Given the description of an element on the screen output the (x, y) to click on. 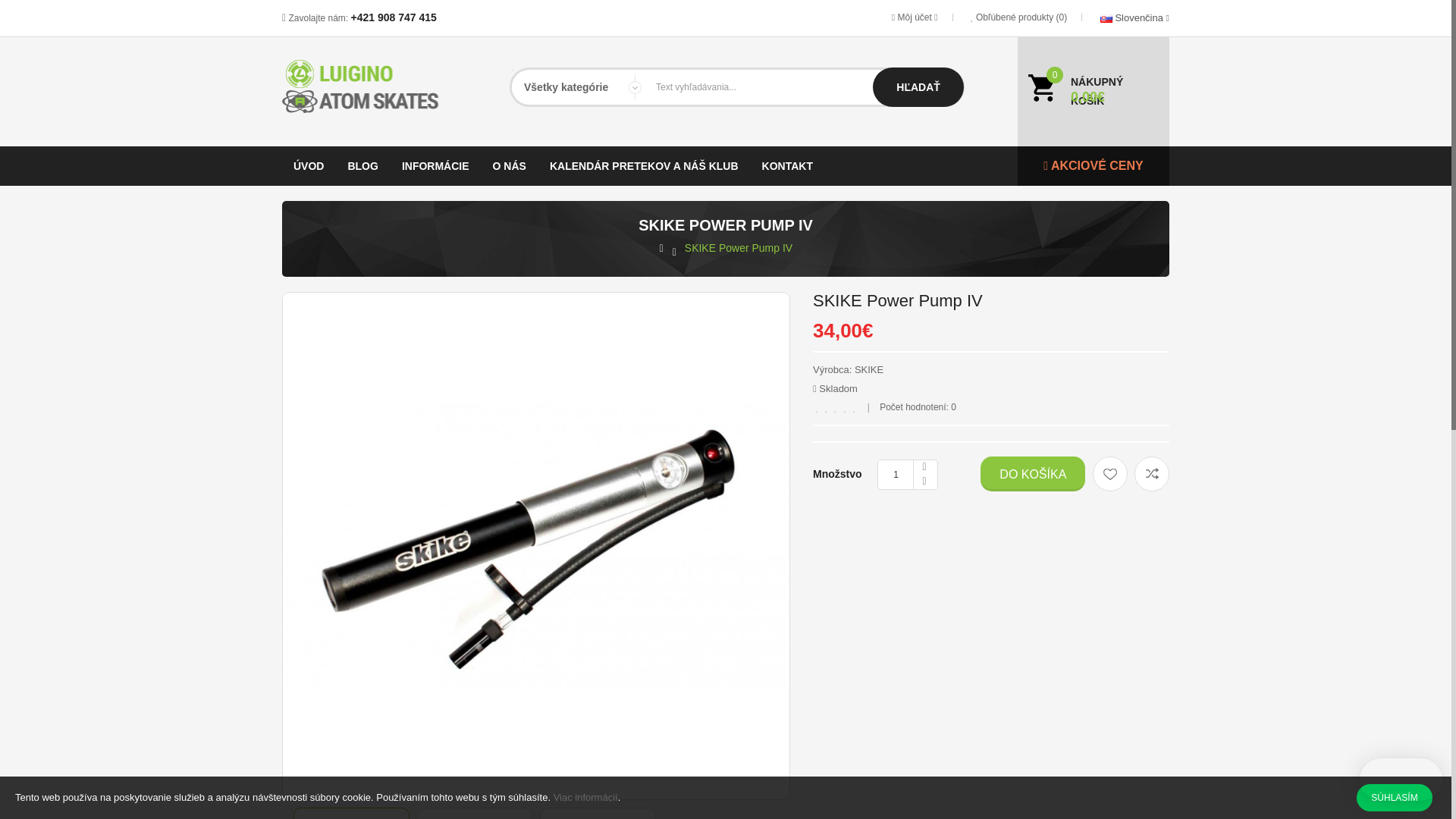
SKIKE Power Pump IV (597, 815)
1 (907, 474)
SKIKE Power Pump IV (351, 815)
KONTAKT (787, 165)
SKIKE Power Pump IV (598, 813)
SKIKE Power Pump IV (474, 815)
SKIKE Power Pump IV (351, 813)
SKIKE Power Pump IV (474, 813)
SKIKE Power Pump IV (738, 248)
LUIGINO (373, 86)
BLOG (362, 165)
SKIKE (868, 369)
